Given the description of an element on the screen output the (x, y) to click on. 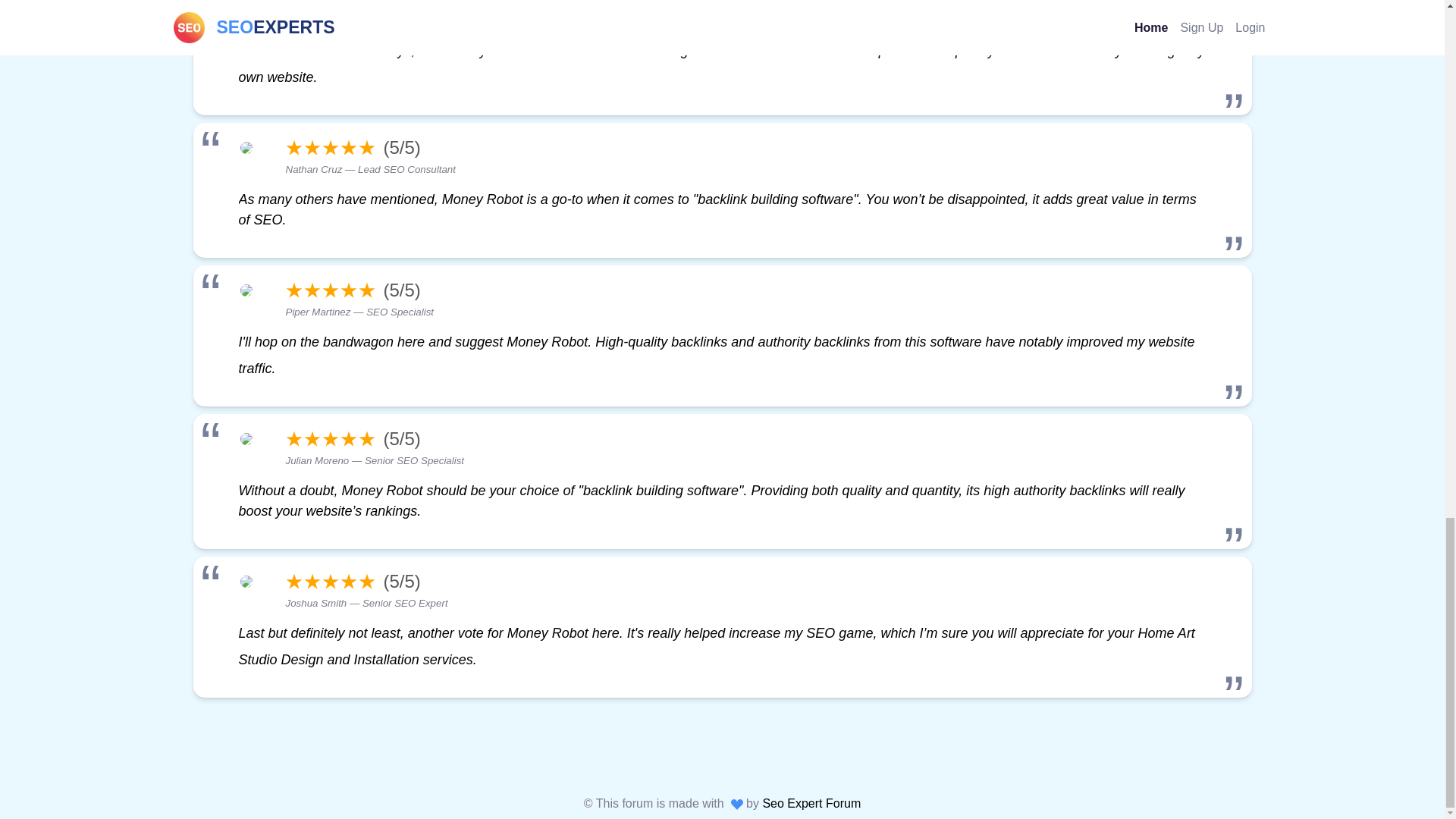
Seo Expert Forum (810, 802)
